Given the description of an element on the screen output the (x, y) to click on. 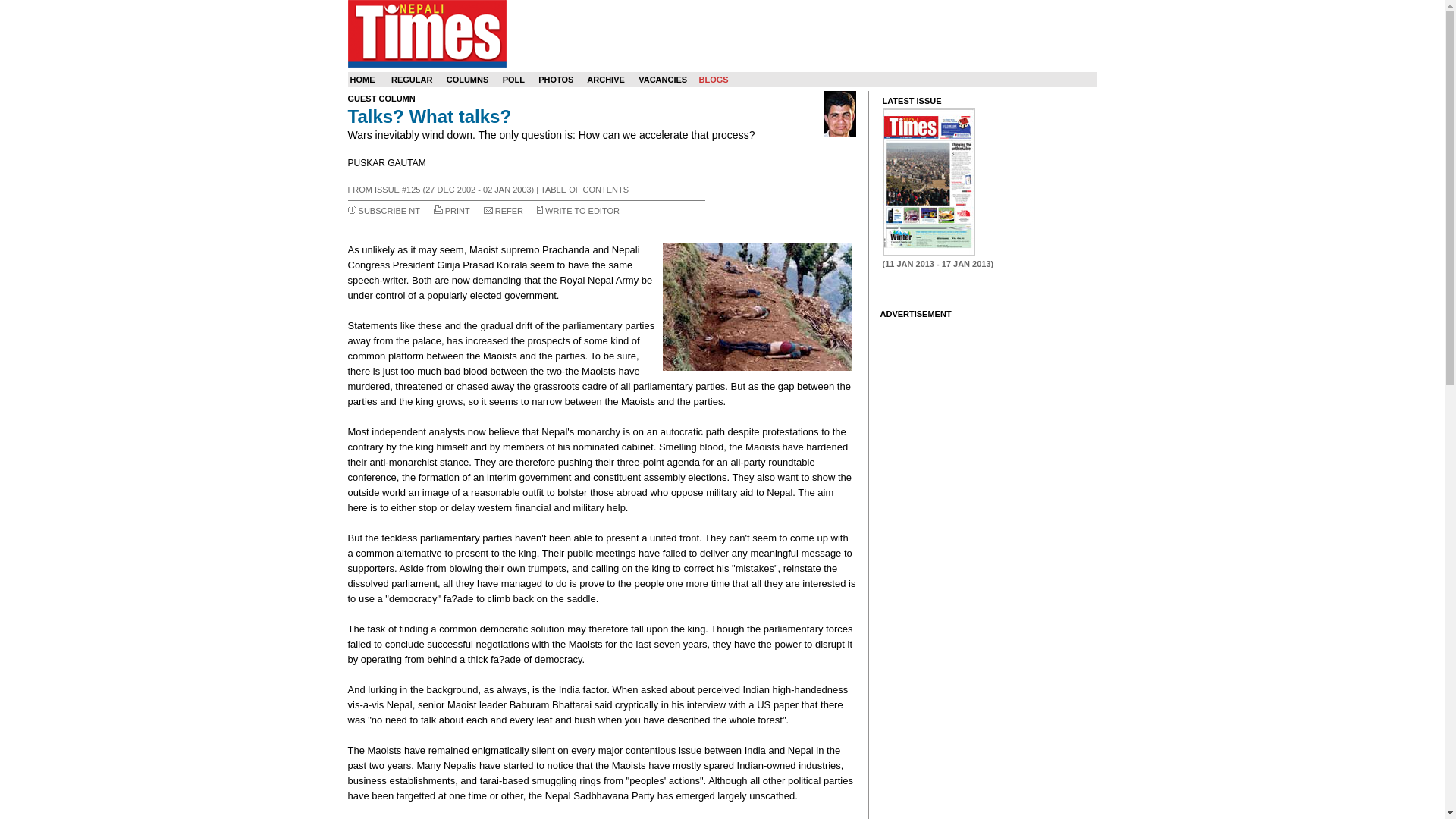
PUSKAR GAUTAM (840, 113)
Advertisement (601, 811)
TABLE OF CONTENTS (584, 189)
WRITE TO EDITOR (582, 210)
SUBSCRIBE NT (389, 210)
638 (928, 182)
VACANCIES (663, 79)
HOME (362, 79)
BLOGS (713, 79)
REGULAR (411, 79)
REFER (508, 210)
COLUMNS (467, 79)
PRINT (458, 210)
Nepali Times (426, 33)
ARCHIVE (605, 79)
